Given the description of an element on the screen output the (x, y) to click on. 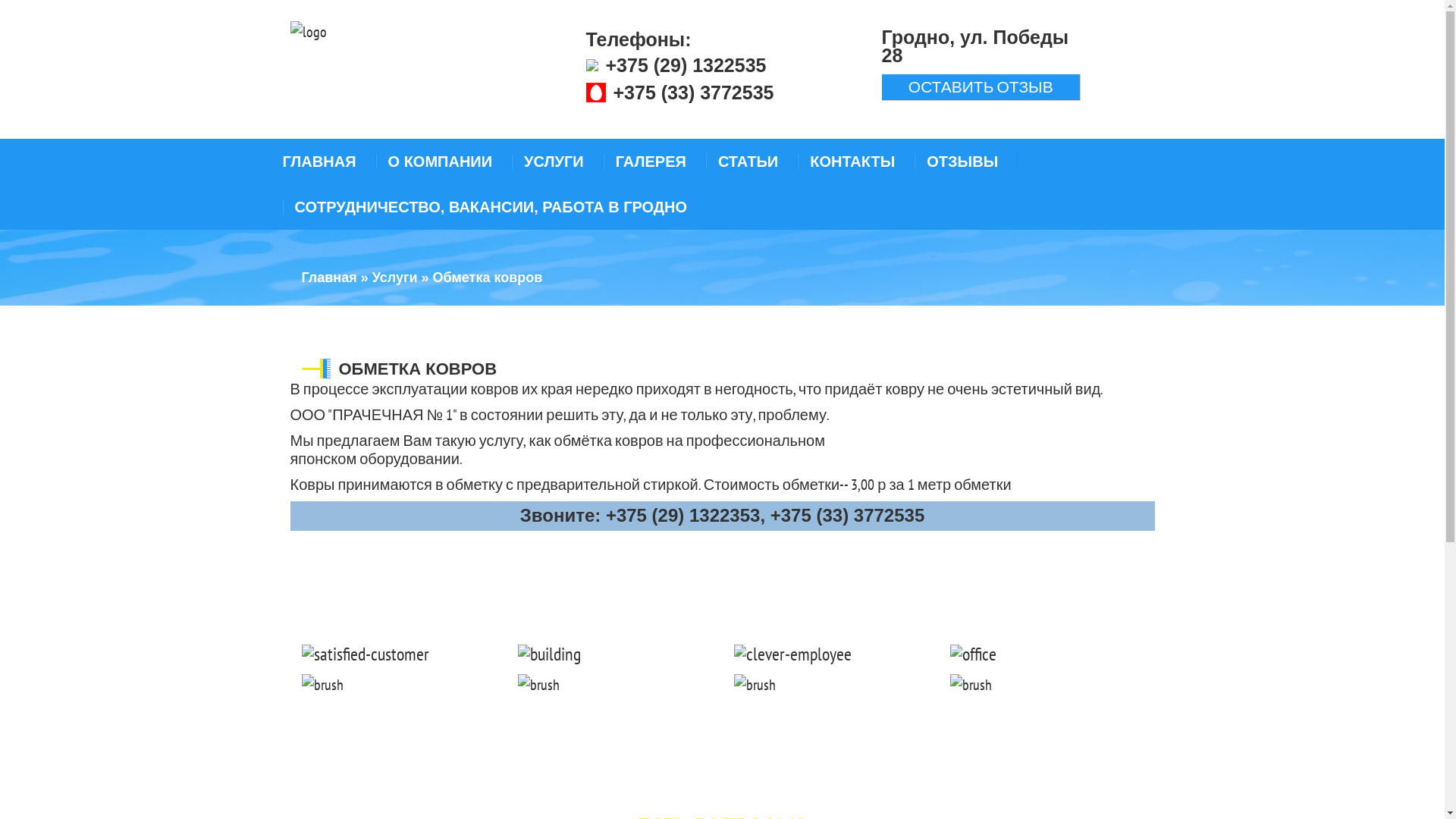
+375 (29) 1322535 Element type: text (685, 64)
+375 (33) 3772535 Element type: text (692, 92)
